Given the description of an element on the screen output the (x, y) to click on. 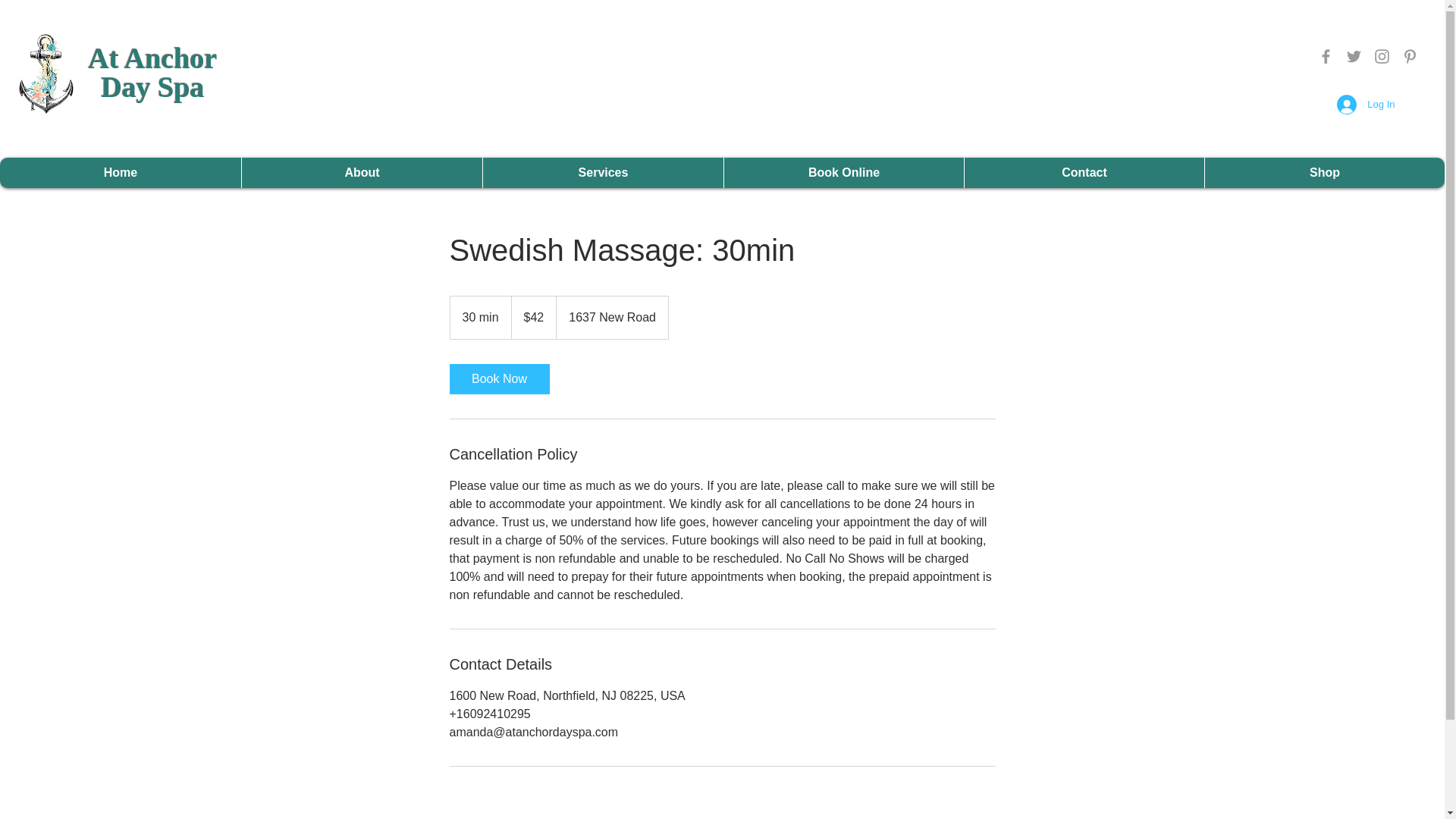
Home (120, 173)
Book Now (498, 378)
Book Online (843, 173)
Contact (152, 72)
Log In (1083, 173)
